Given the description of an element on the screen output the (x, y) to click on. 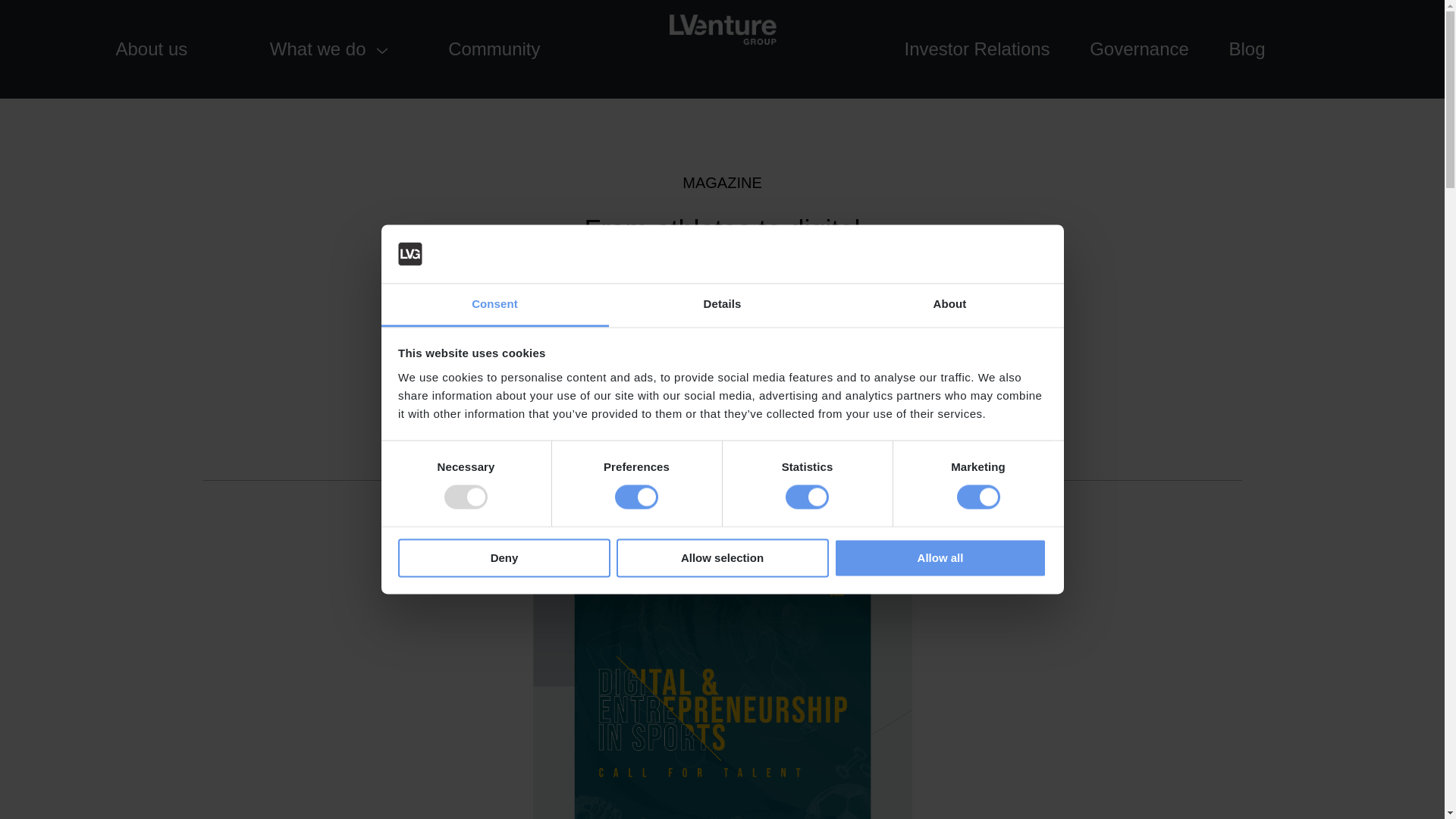
Community (494, 48)
What we do (317, 48)
Deny (503, 557)
Details (721, 304)
Governance (1139, 48)
Investor Relations (976, 48)
Consent (494, 304)
Allow selection (721, 557)
About (948, 304)
About us (151, 48)
Allow all (940, 557)
Blog (1246, 48)
